Given the description of an element on the screen output the (x, y) to click on. 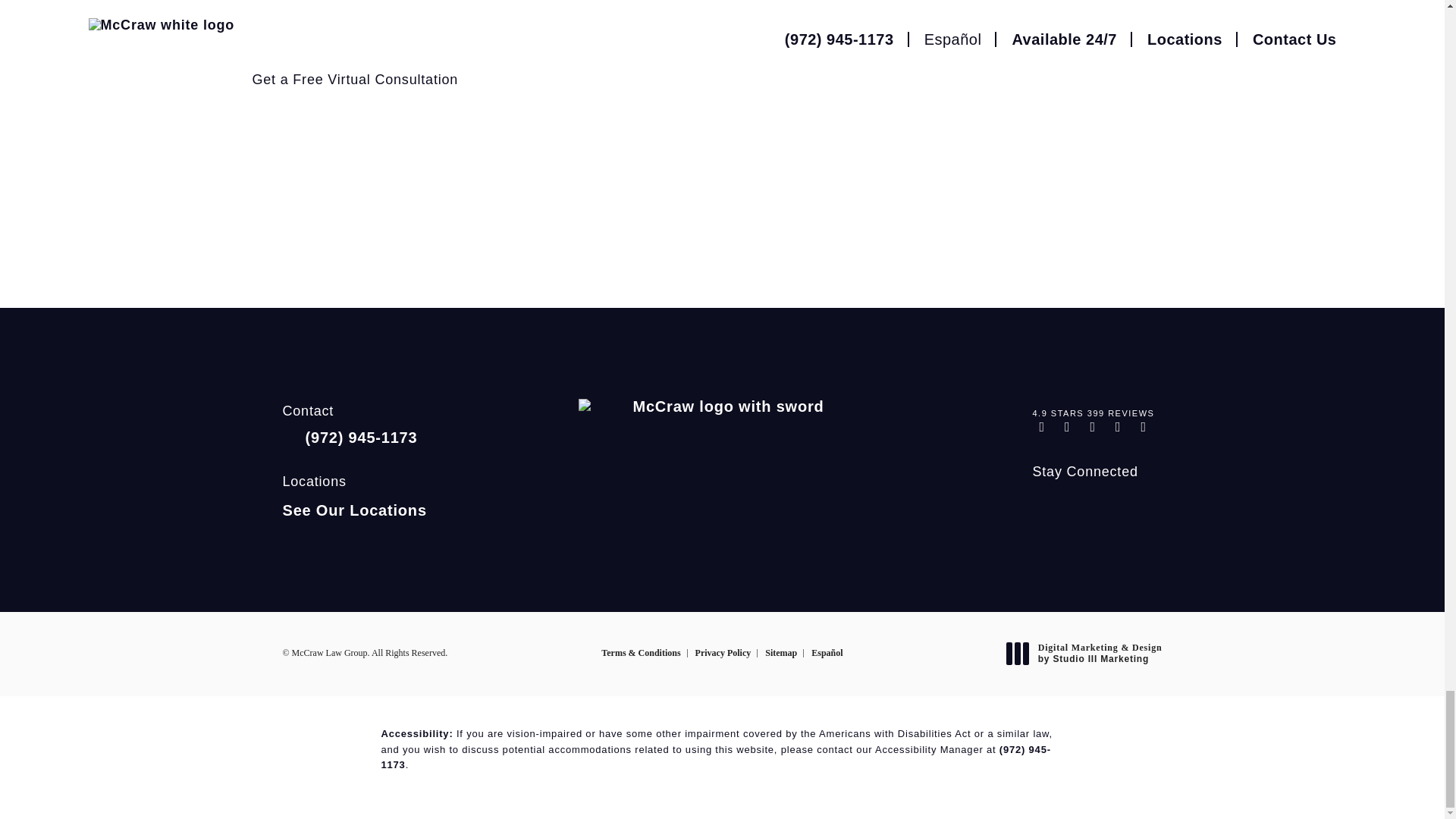
McCraw Law Group on Instagram (1042, 503)
